Given the description of an element on the screen output the (x, y) to click on. 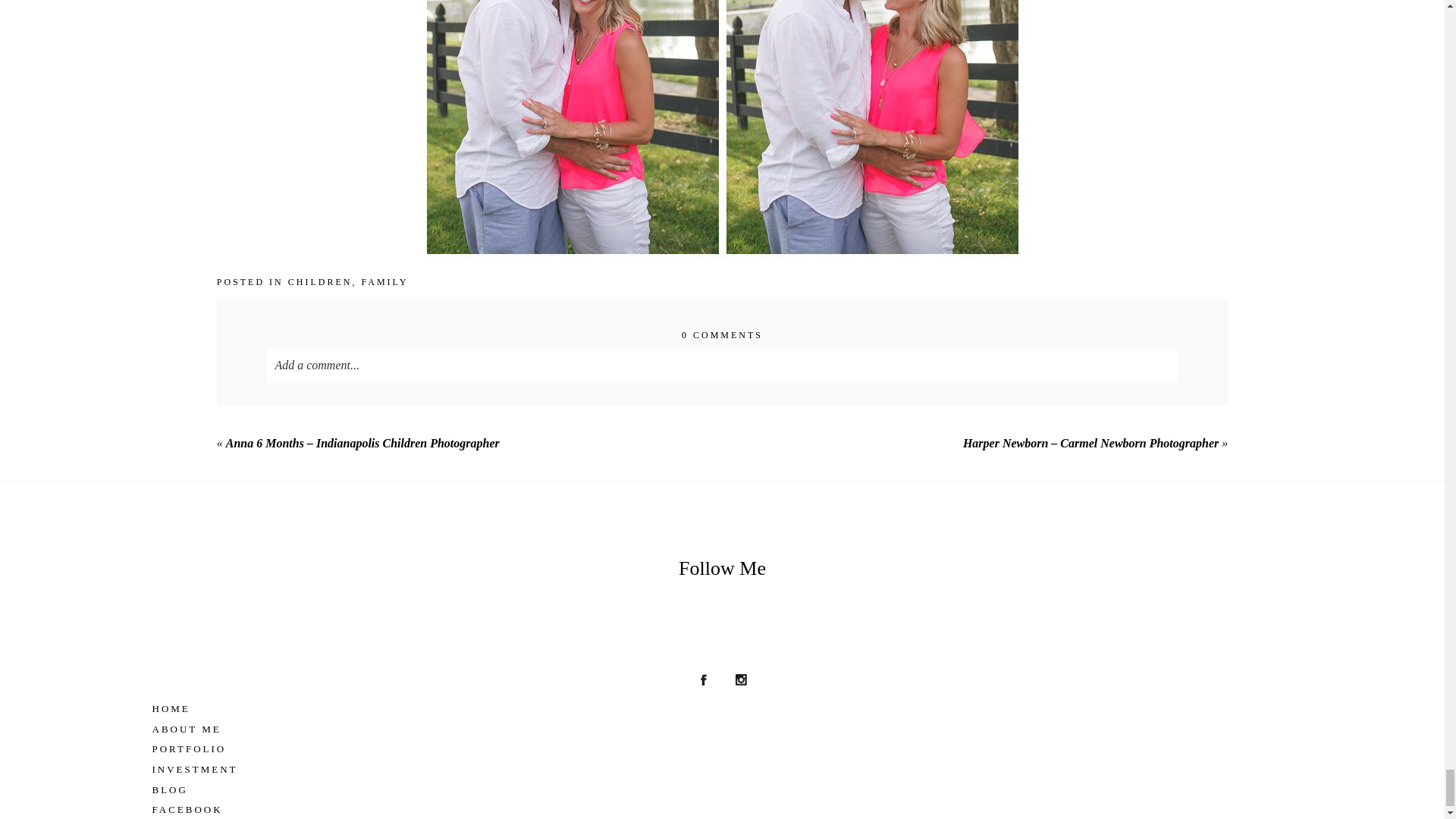
FACEBOOK (722, 809)
FAMILY (384, 281)
BLOG (722, 790)
ABOUT ME (722, 729)
PORTFOLIO (722, 749)
INVESTMENT (722, 770)
CHILDREN (320, 281)
HOME (722, 708)
